Given the description of an element on the screen output the (x, y) to click on. 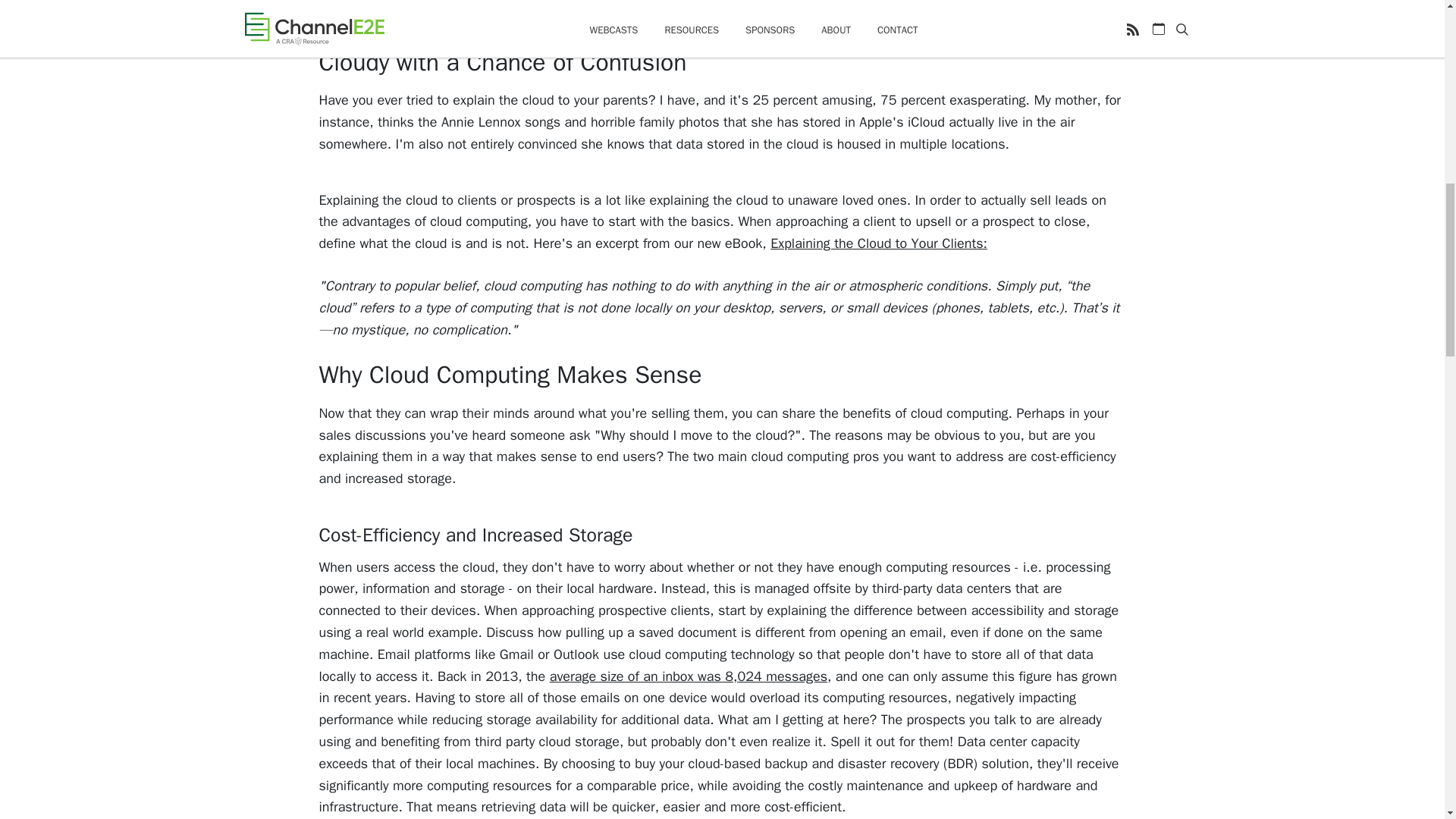
Explaining the Cloud to Your Clients: (878, 243)
average size of an inbox was 8,024 messages (688, 676)
